Given the description of an element on the screen output the (x, y) to click on. 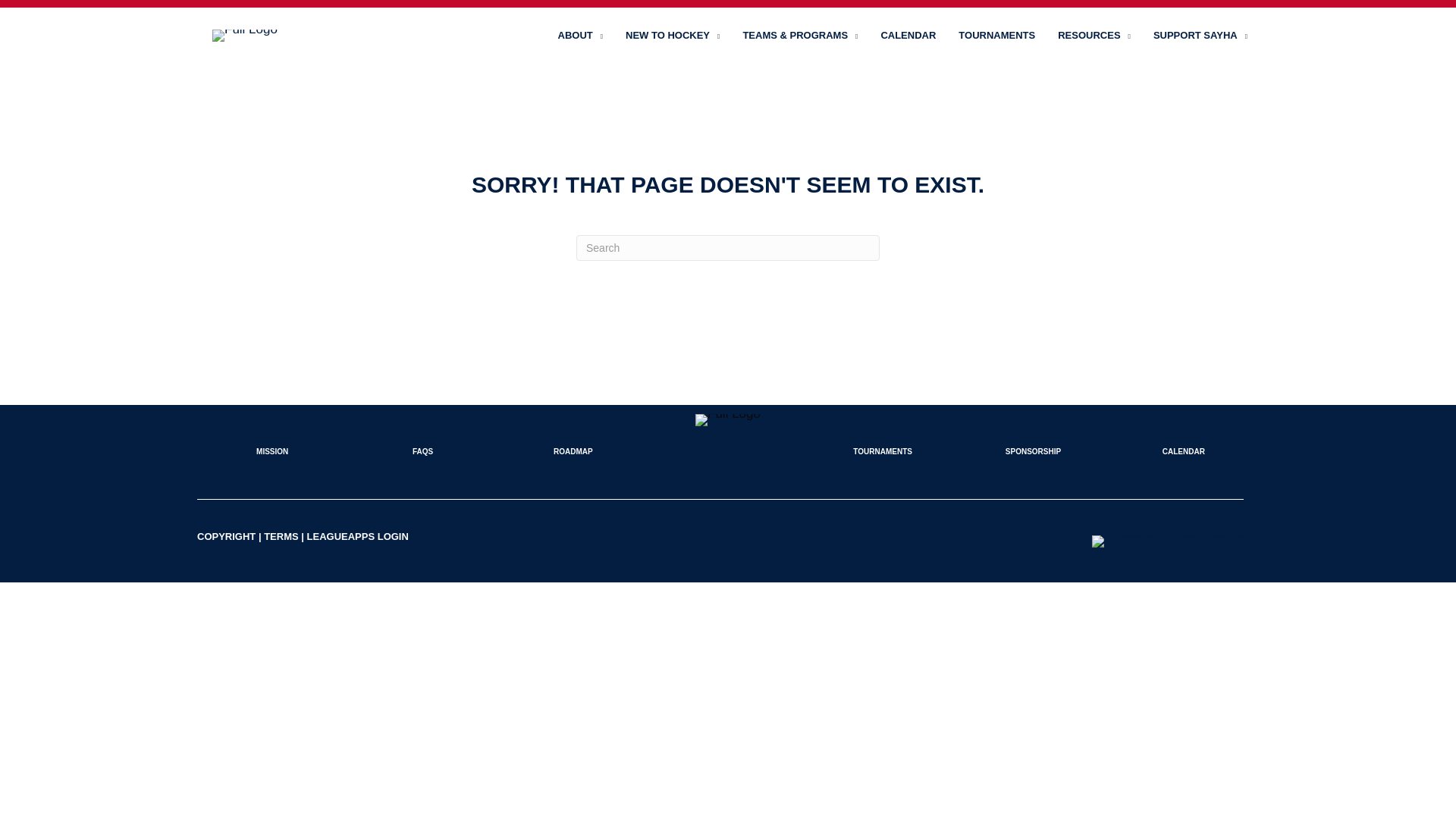
NEW TO HOCKEY (671, 34)
RESOURCES (1093, 34)
Type and press Enter to search. (727, 248)
TOURNAMENTS (996, 34)
Full Logo (245, 35)
Full Logo (727, 419)
ABOUT (580, 34)
CALENDAR (907, 34)
powered by leagurapps - white (1167, 541)
